Given the description of an element on the screen output the (x, y) to click on. 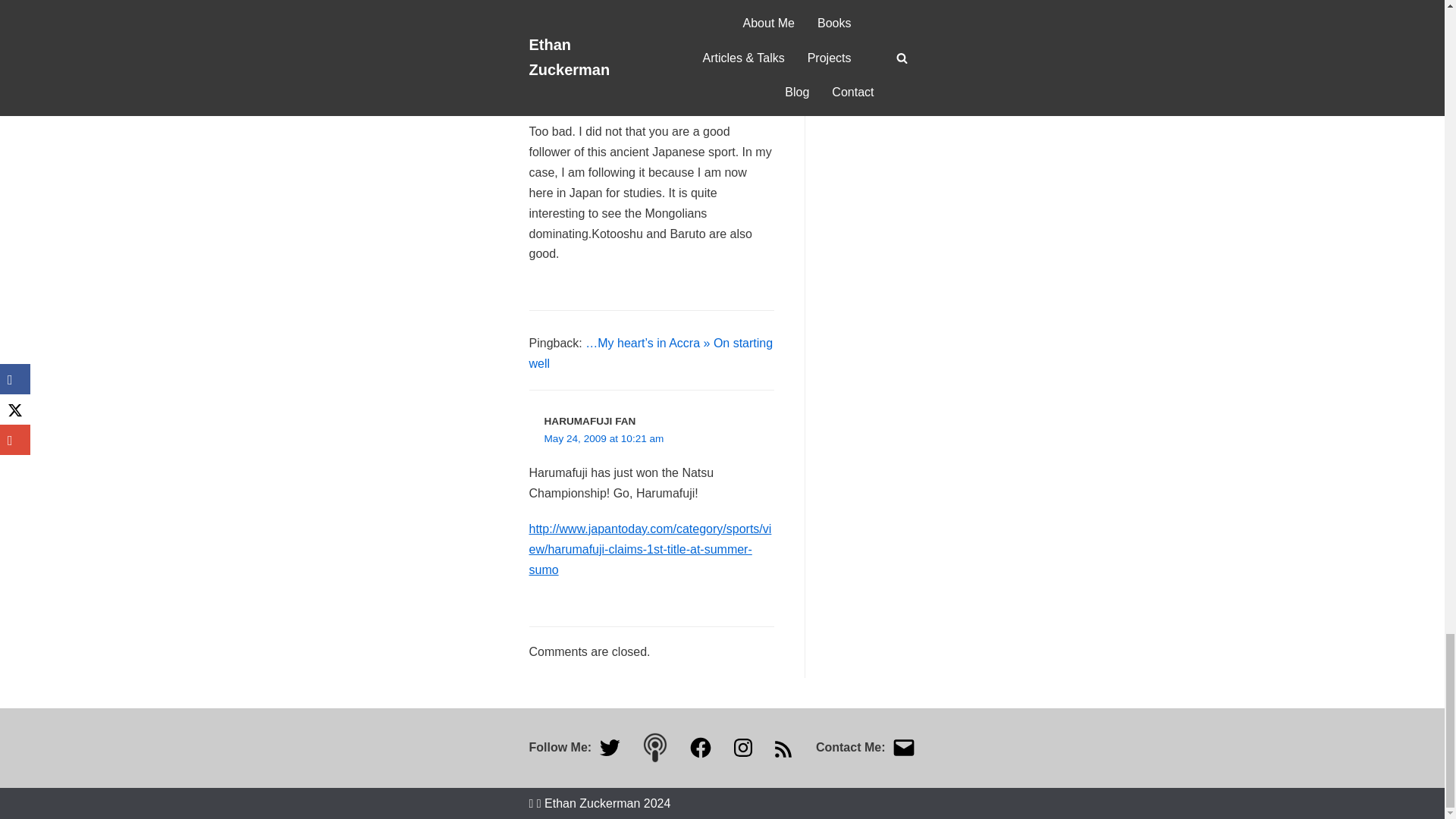
CLEMENT (569, 79)
January 19, 2009 at 3:57 am (609, 98)
